Given the description of an element on the screen output the (x, y) to click on. 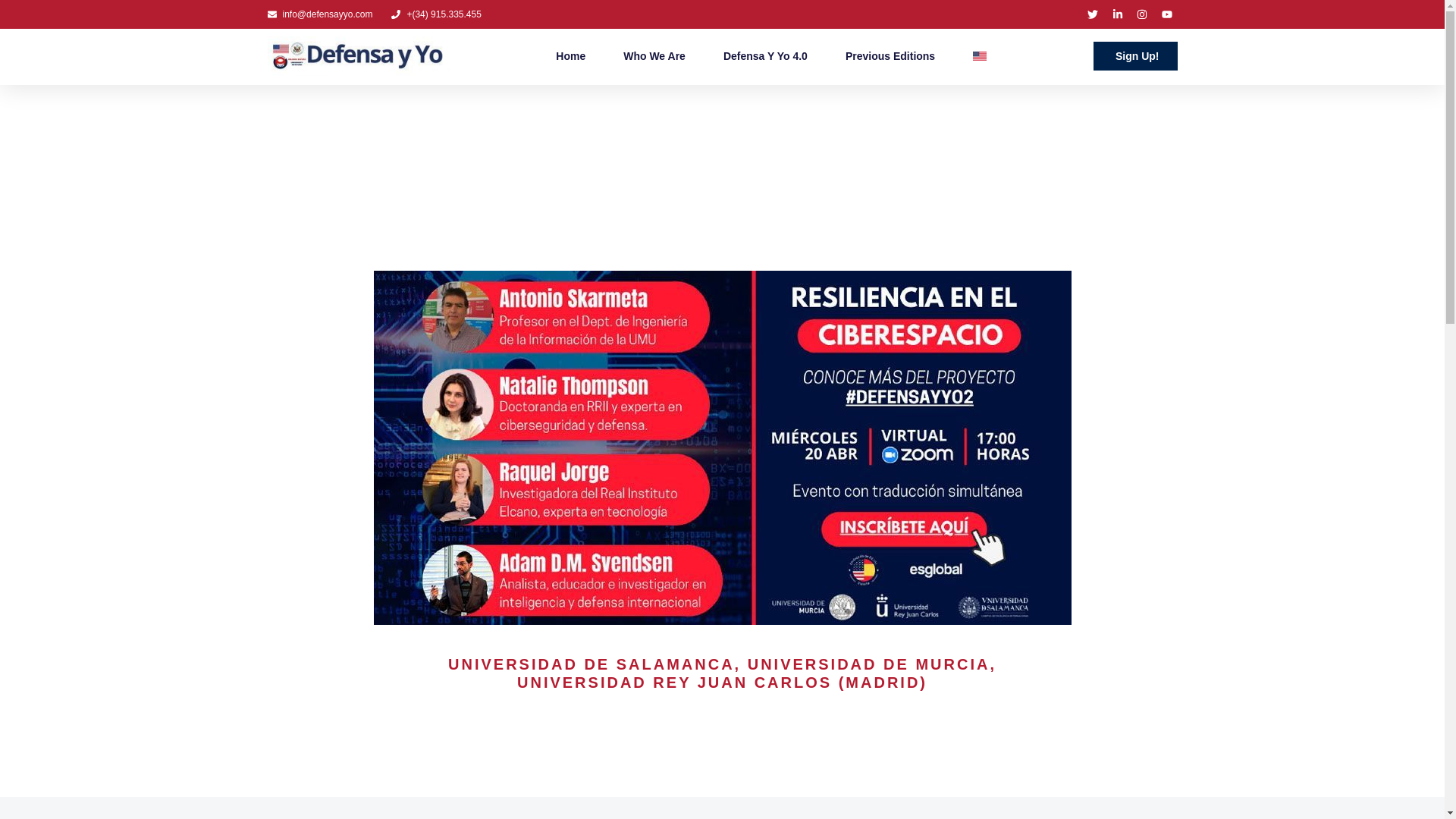
Sign Up! (1135, 55)
Defensa Y Yo 4.0 (765, 55)
Previous Editions (889, 55)
Who We Are (654, 55)
